Given the description of an element on the screen output the (x, y) to click on. 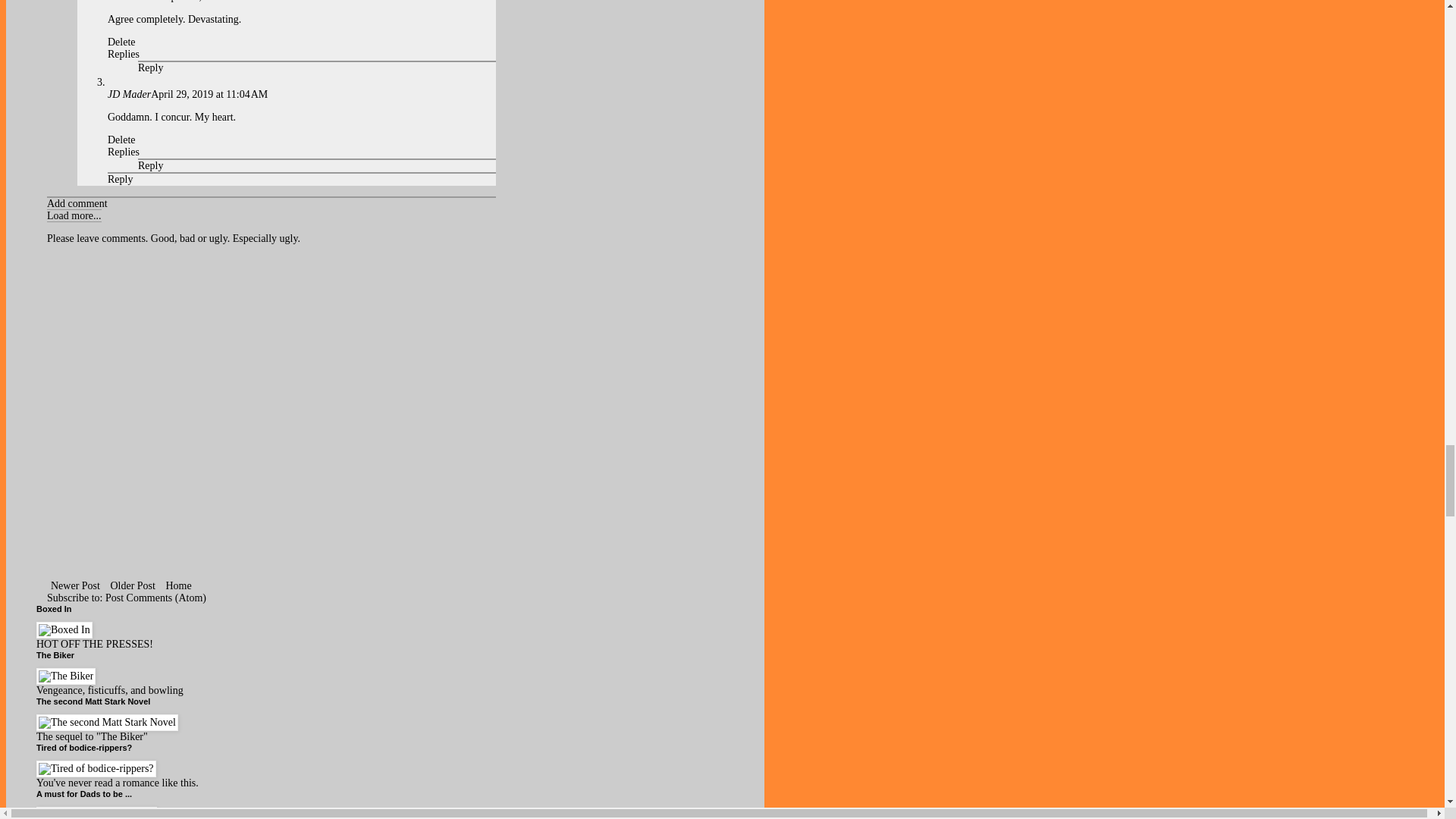
Older Post (132, 585)
Newer Post (74, 585)
